Given the description of an element on the screen output the (x, y) to click on. 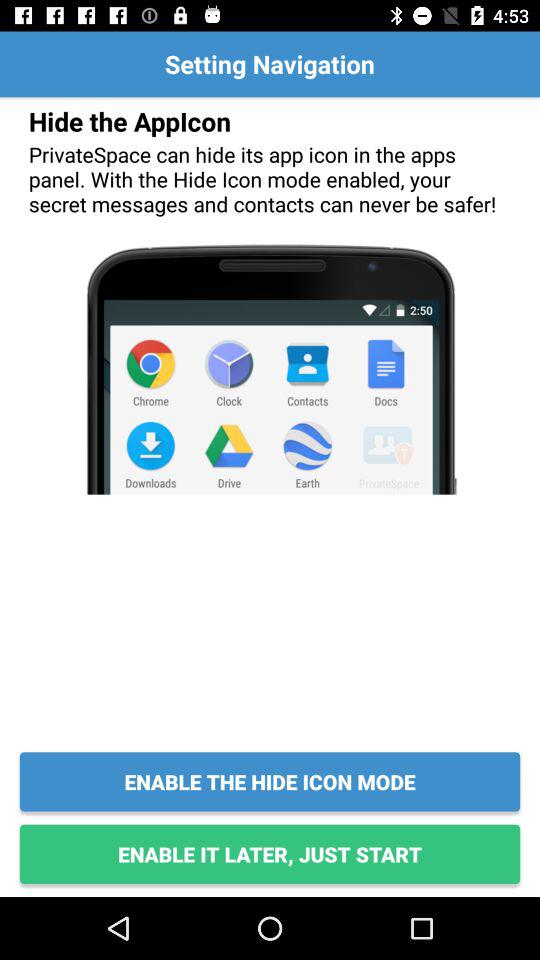
press the enable it later item (269, 853)
